Given the description of an element on the screen output the (x, y) to click on. 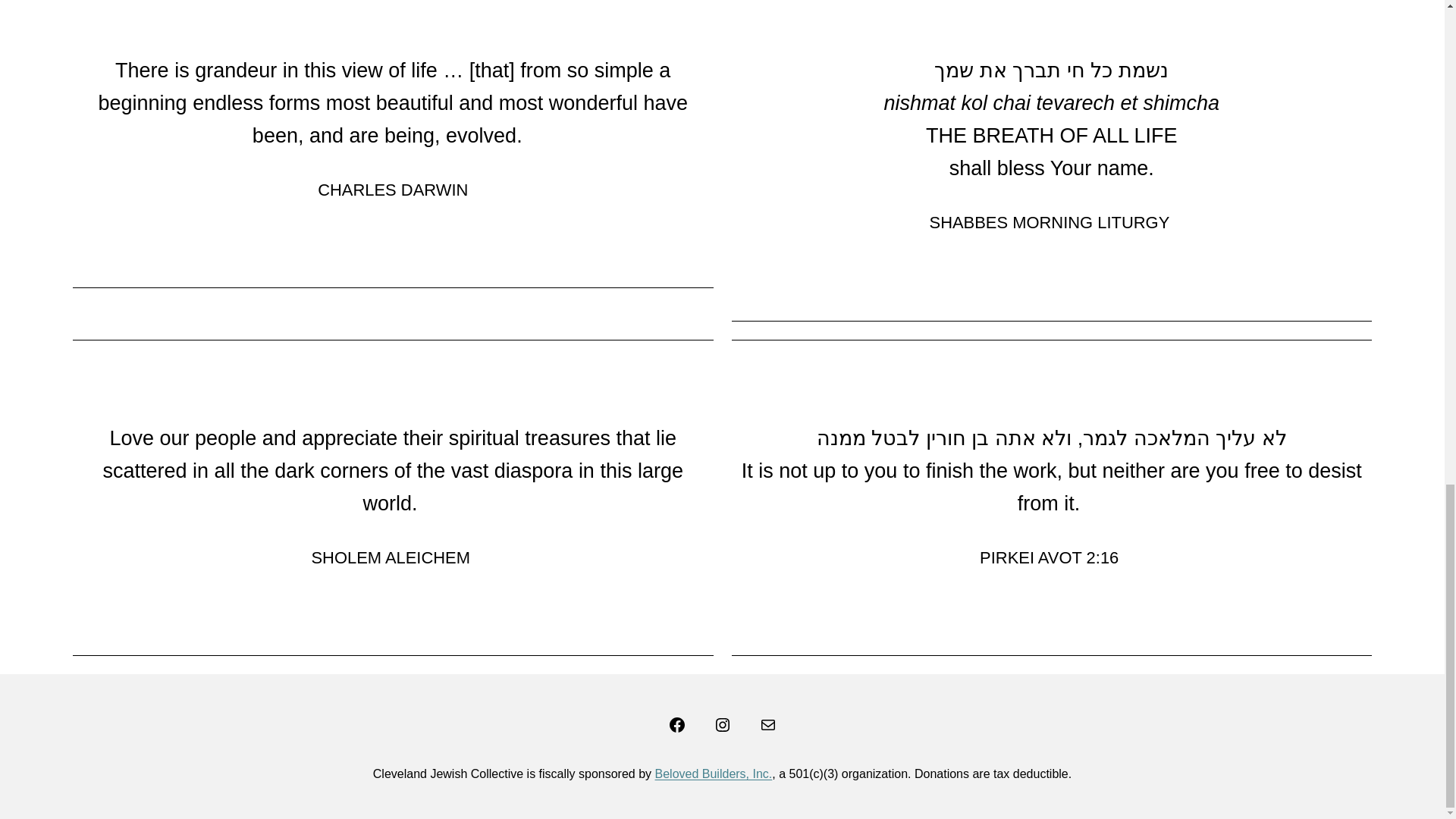
Instagram (721, 724)
Beloved Builders, Inc. (714, 773)
Mail (767, 724)
CJC on Facebook (675, 724)
